Given the description of an element on the screen output the (x, y) to click on. 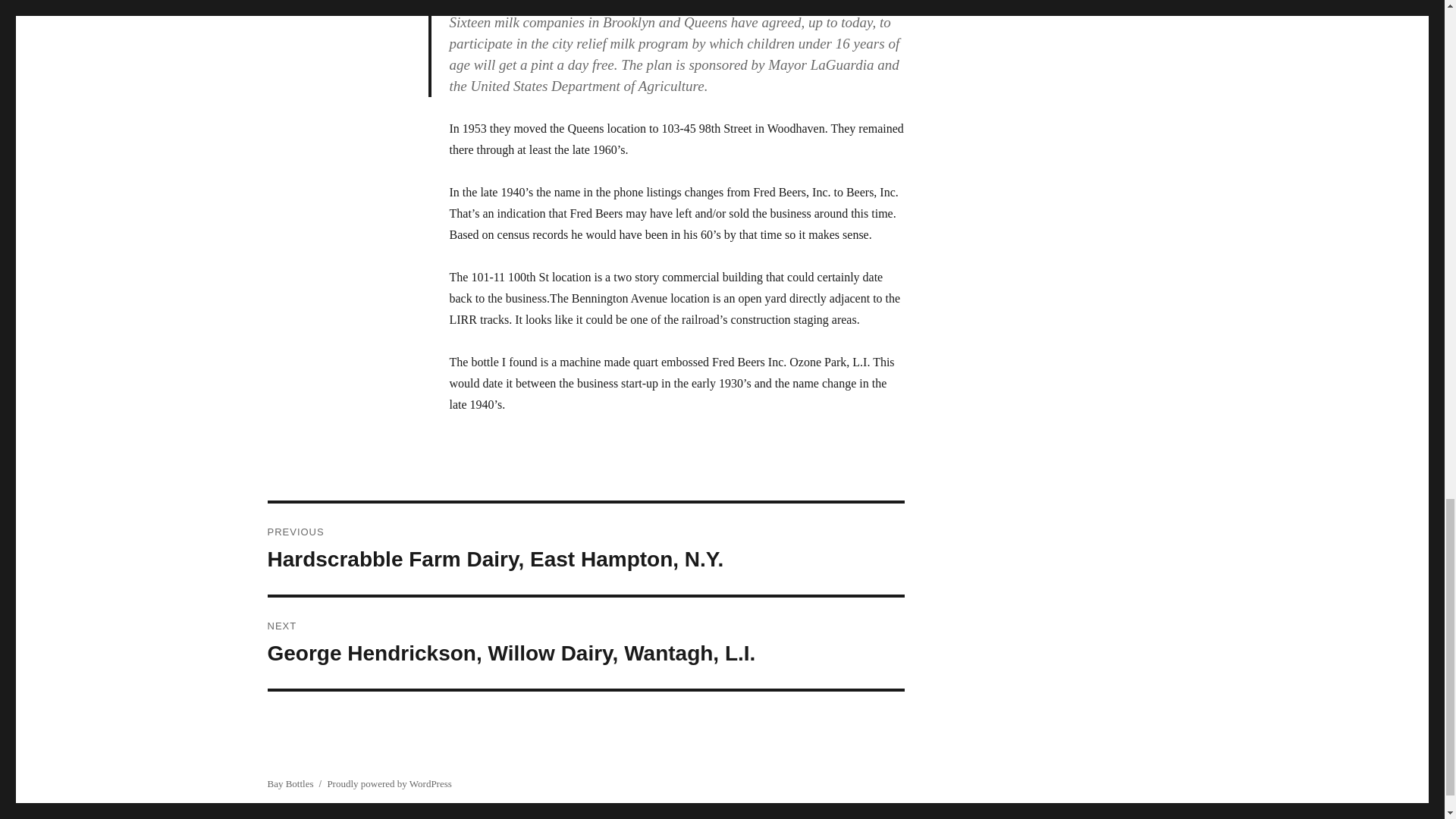
Bay Bottles (289, 783)
Proudly powered by WordPress (388, 783)
